Given the description of an element on the screen output the (x, y) to click on. 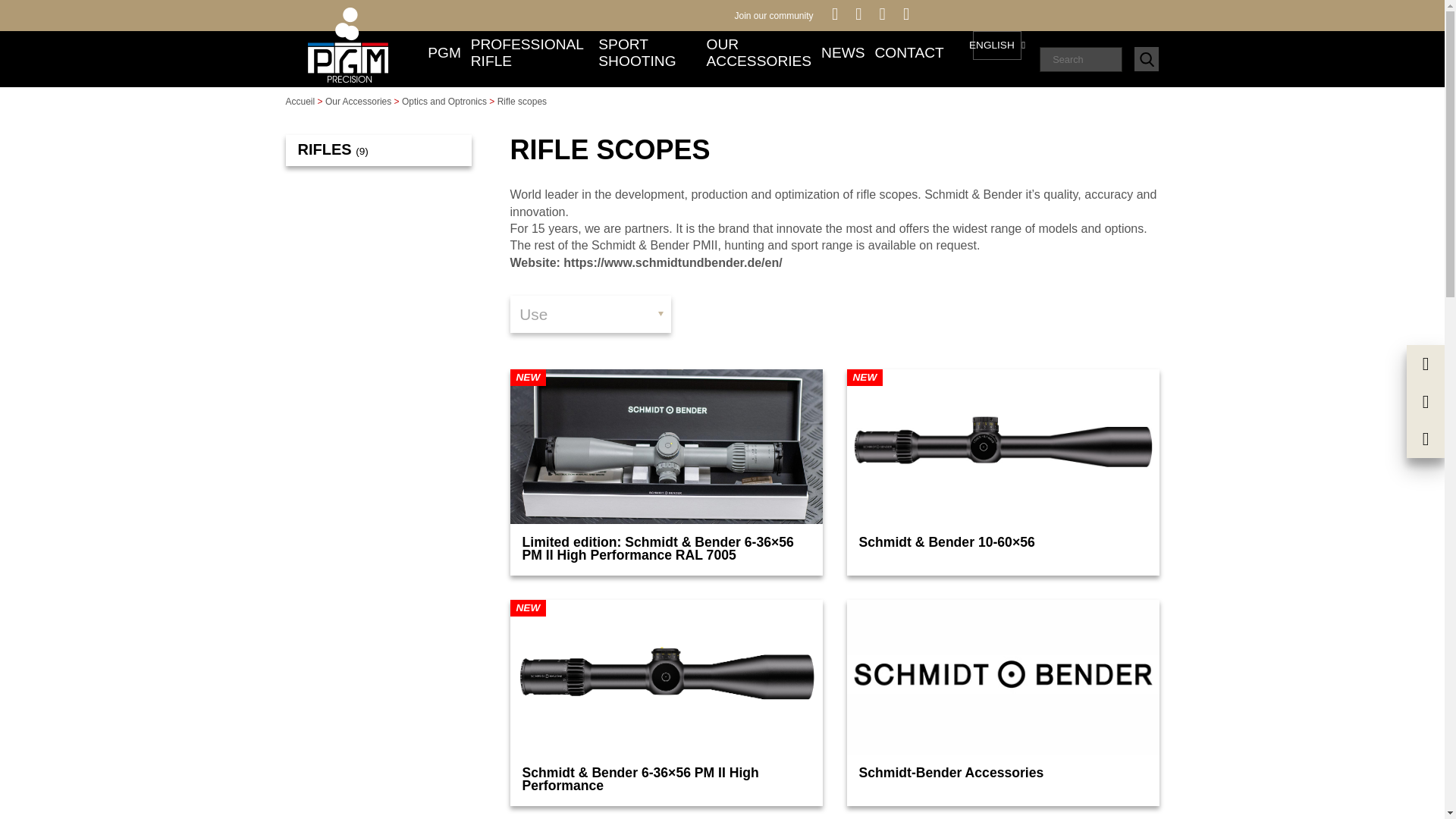
OUR ACCESSORIES (759, 58)
Accueil (299, 101)
Optics and Optronics (443, 101)
Our Accessories (357, 101)
Go to Our Accessories. (357, 101)
English (997, 44)
ENGLISH (997, 44)
PROFESSIONAL RIFLE (529, 58)
NEWS (842, 59)
CONTACT (909, 59)
